Given the description of an element on the screen output the (x, y) to click on. 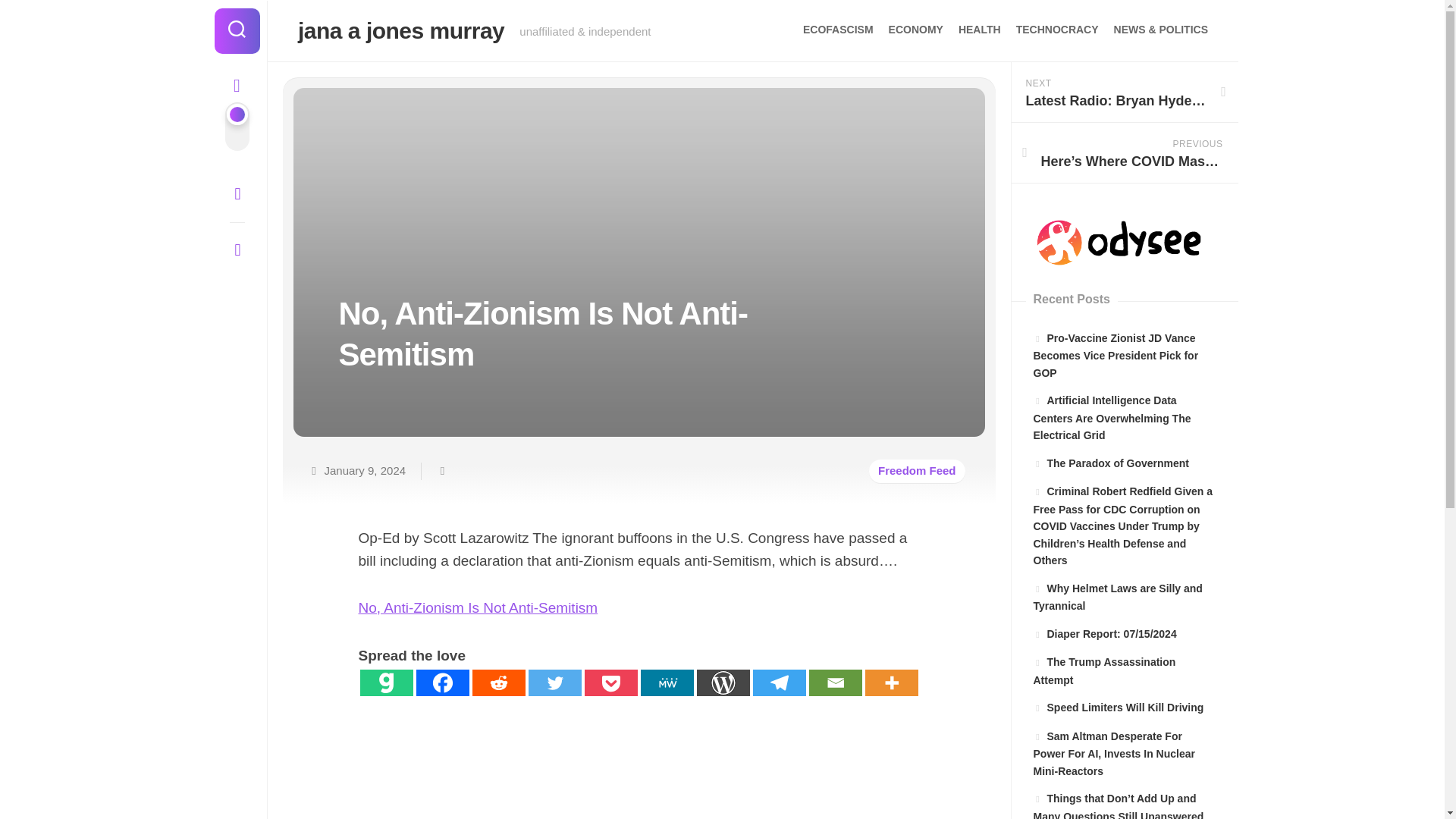
HEALTH (979, 29)
Facebook (441, 682)
Why Helmet Laws are Silly and Tyrannical (1117, 597)
jana a jones murray (400, 31)
Facebook (236, 193)
More (890, 682)
ECOFASCISM (837, 29)
Speed Limiters Will Kill Driving (1118, 707)
Pocket (610, 682)
Twitter (553, 682)
MeWe (666, 682)
Telegram (778, 682)
WordPress (722, 682)
The Paradox of Government (1110, 463)
The Trump Assassination Attempt (1103, 671)
